Given the description of an element on the screen output the (x, y) to click on. 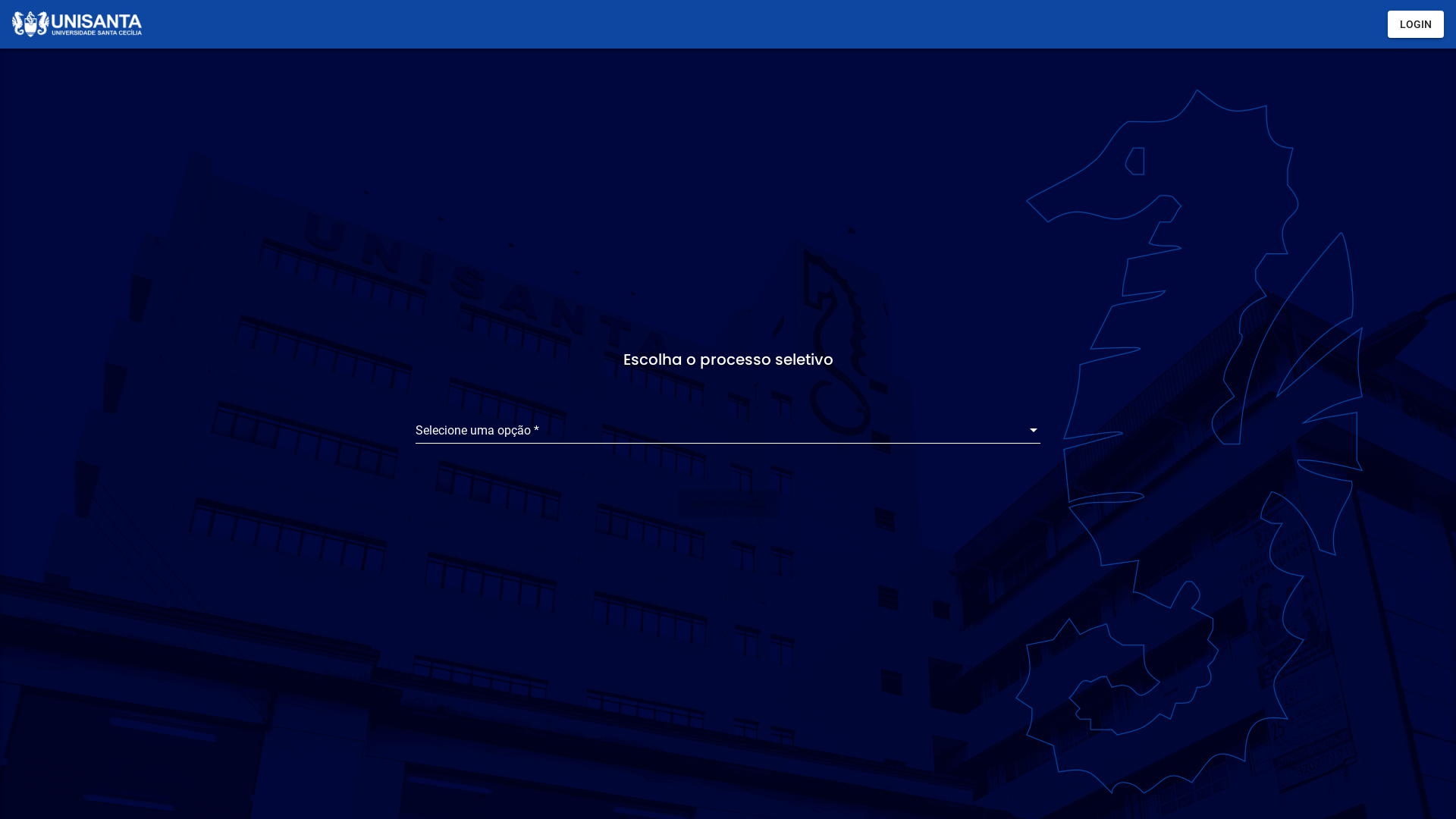
LOGIN Element type: text (1415, 23)
